Given the description of an element on the screen output the (x, y) to click on. 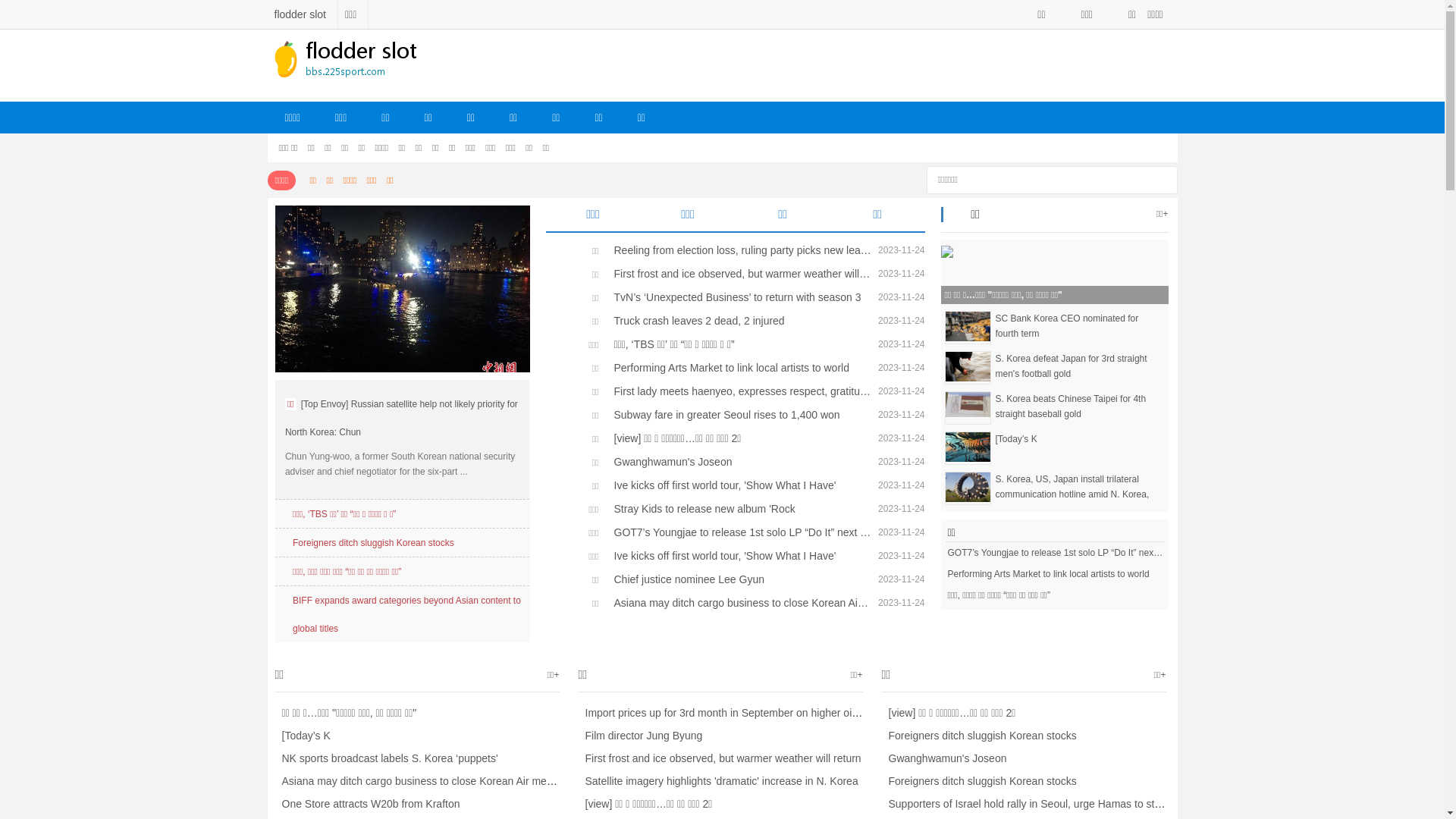
Performing Arts Market to link local artists to world Element type: text (1053, 573)
S. Korea defeat Japan for 3rd straight men Element type: hover (966, 365)
Gwanghwamun's Joseon Element type: text (943, 758)
One Store attracts W20b from Krafton Element type: text (366, 803)
Gwanghwamun's Joseon Element type: text (739, 461)
S. Korea defeat Japan for 3rd straight men's football gold Element type: text (1075, 366)
Foreigners ditch sluggish Korean stocks Element type: text (978, 735)
Subway fare in greater Seoul rises to 1,400 won Element type: text (739, 414)
First frost and ice observed, but warmer weather will return Element type: text (739, 273)
First lady meets haenyeo, expresses respect, gratitude Element type: text (739, 390)
Ive kicks off first world tour, 'Show What I Have' Element type: text (739, 555)
S. Korea beats Chinese Taipei for 4th straight baseball gold Element type: text (1075, 406)
Satellite imagery highlights 'dramatic' increase in N. Korea Element type: text (717, 781)
Chief justice nominee Lee Gyun Element type: text (739, 578)
Stray Kids to release new album 'Rock Element type: text (739, 508)
S. Korea beats Chinese Taipei for 4th straight baseball gold Element type: hover (966, 403)
Foreigners ditch sluggish Korean stocks Element type: text (978, 781)
Performing Arts Market to link local artists to world Element type: text (739, 367)
Truck crash leaves 2 dead, 2 injured Element type: text (739, 320)
SC Bank Korea CEO nominated for fourth term Element type: text (1075, 325)
flodder slot Element type: hover (361, 62)
Ive kicks off first world tour, 'Show What I Have' Element type: text (739, 484)
First frost and ice observed, but warmer weather will return Element type: text (718, 758)
flodder slot Element type: text (301, 14)
Film director Jung Byung Element type: text (639, 735)
SC Bank Korea CEO nominated for fourth term Element type: hover (966, 325)
  Element type: text (1159, 176)
Foreigners ditch sluggish Korean stocks Element type: text (373, 542)
